Given the description of an element on the screen output the (x, y) to click on. 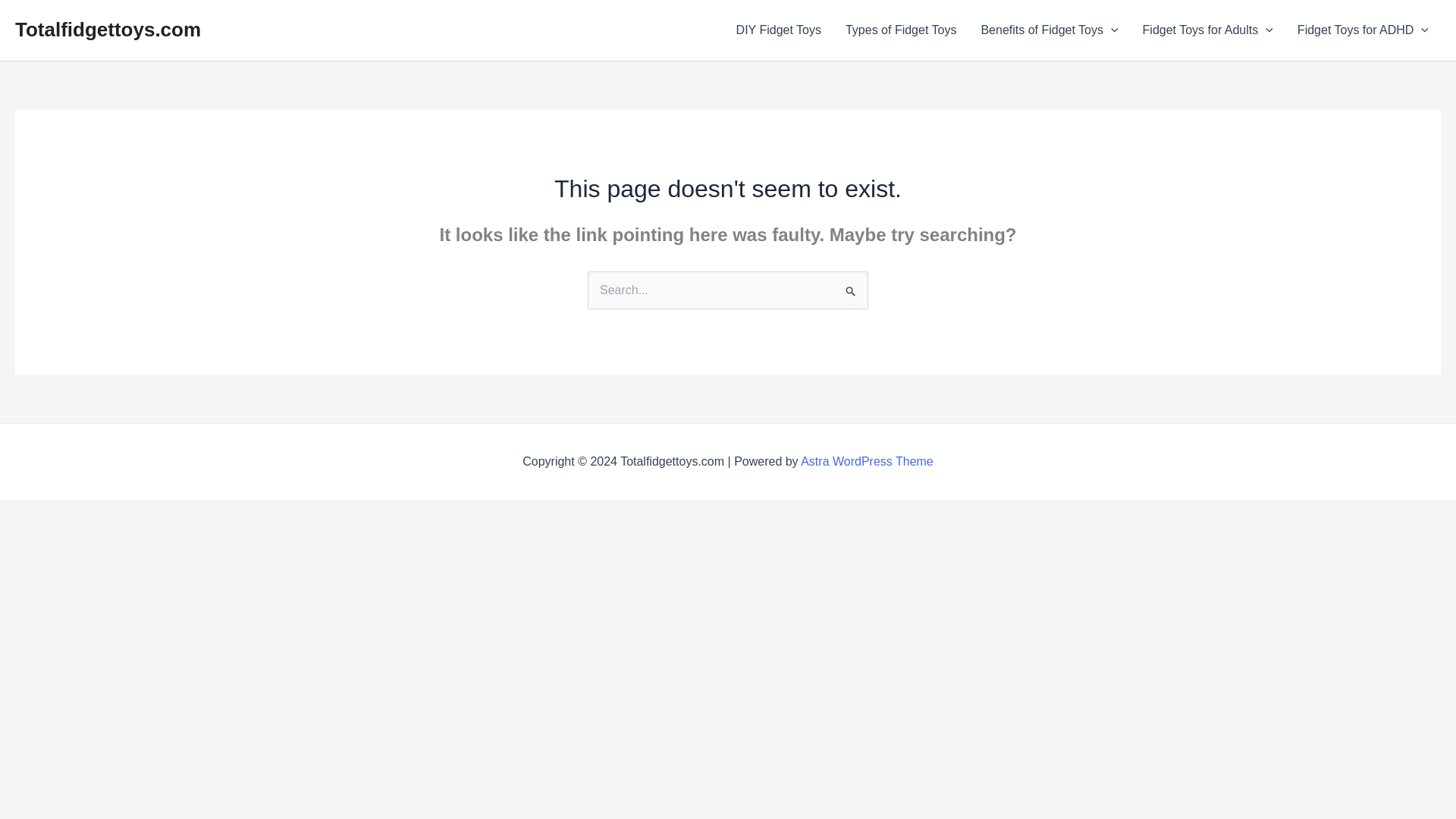
Search (850, 292)
Search (850, 292)
Search (850, 292)
Astra WordPress Theme (866, 461)
Fidget Toys for ADHD (1363, 30)
Benefits of Fidget Toys (1048, 30)
DIY Fidget Toys (777, 30)
Fidget Toys for Adults (1208, 30)
Types of Fidget Toys (900, 30)
Totalfidgettoys.com (107, 29)
